Given the description of an element on the screen output the (x, y) to click on. 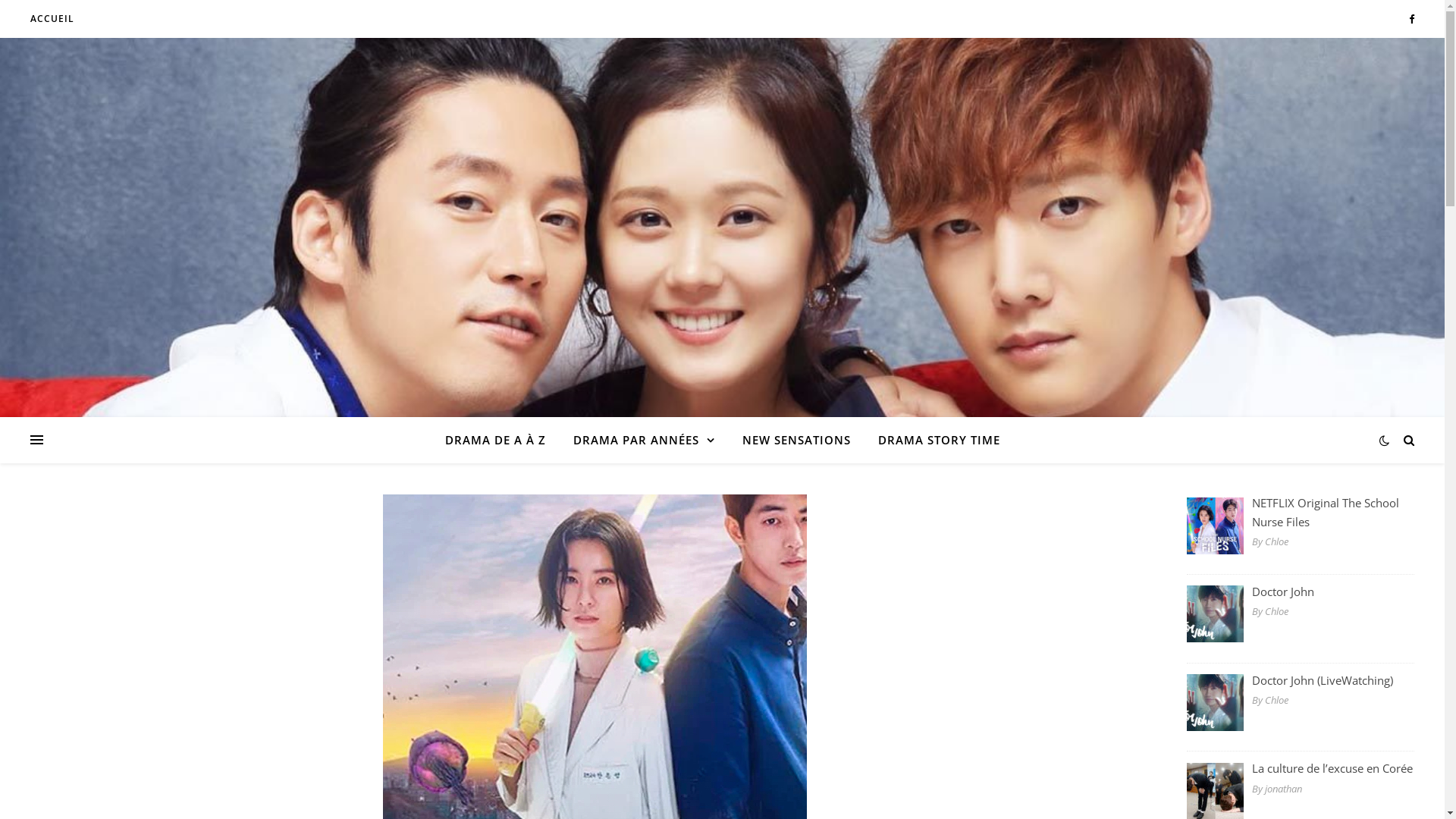
NETFLIX Original The School Nurse Files Element type: text (1300, 511)
DRAMA STORY TIME Element type: text (933, 439)
NEW SENSATIONS Element type: text (795, 439)
Doctor John Element type: text (1300, 591)
Doctor John (LiveWatching) Element type: text (1300, 679)
ACCUEIL Element type: text (52, 18)
